Given the description of an element on the screen output the (x, y) to click on. 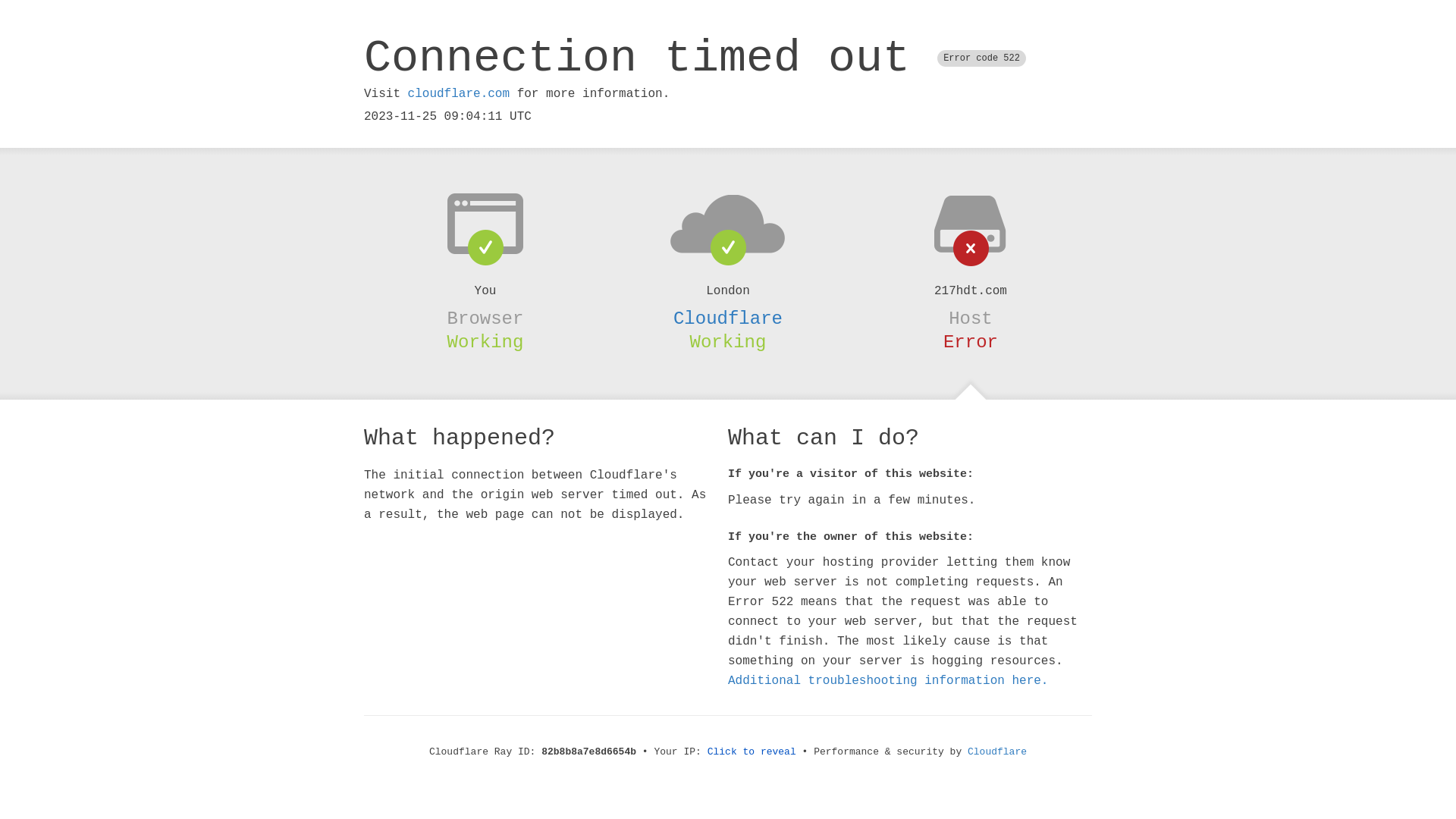
cloudflare.com Element type: text (458, 93)
Click to reveal Element type: text (751, 751)
Cloudflare Element type: text (996, 751)
Cloudflare Element type: text (727, 318)
Additional troubleshooting information here. Element type: text (888, 680)
